Given the description of an element on the screen output the (x, y) to click on. 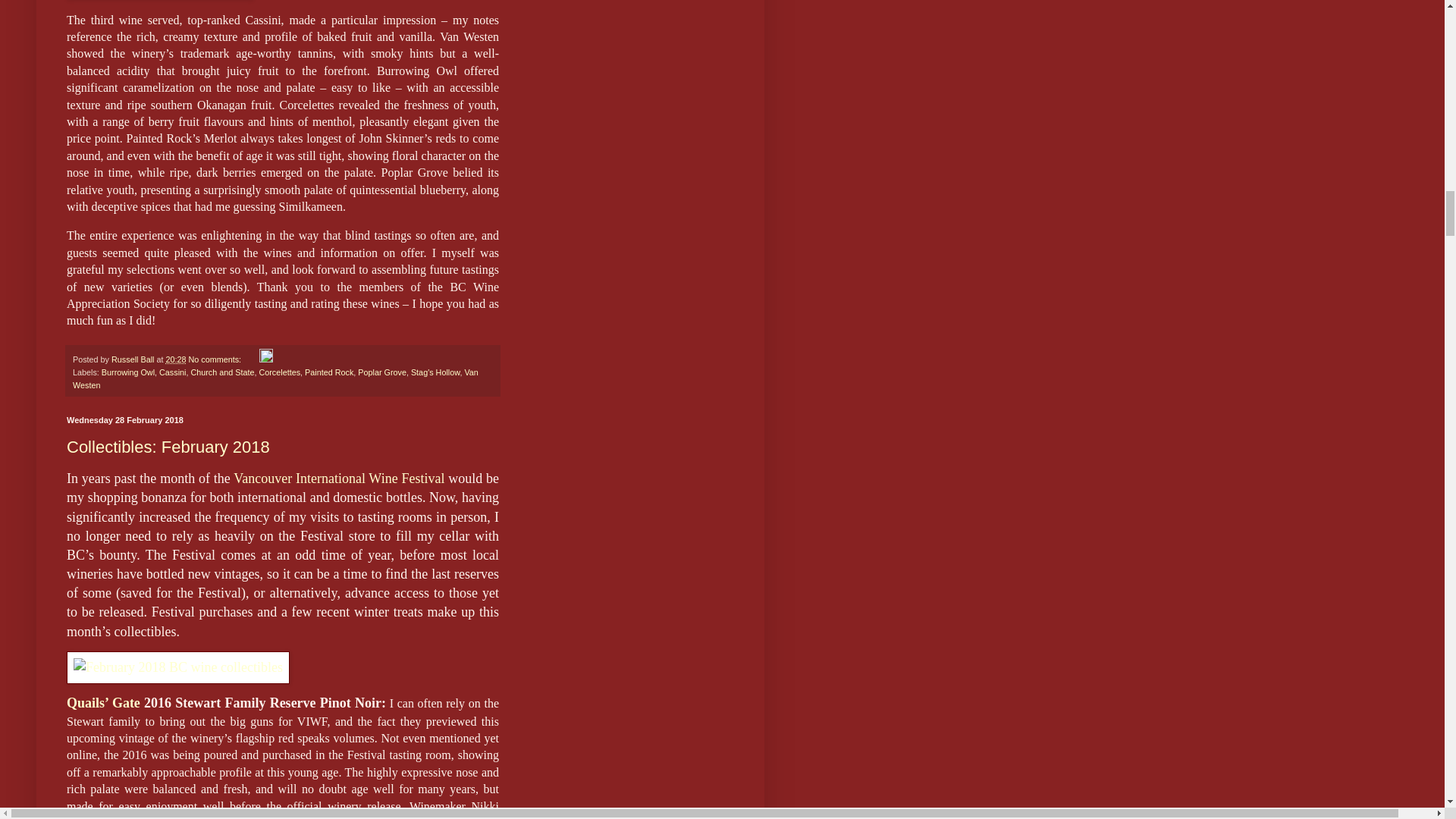
author profile (133, 358)
Email Post (251, 358)
February 2018 BC wine collectibles (177, 667)
permanent link (175, 358)
Edit Post (266, 358)
